Given the description of an element on the screen output the (x, y) to click on. 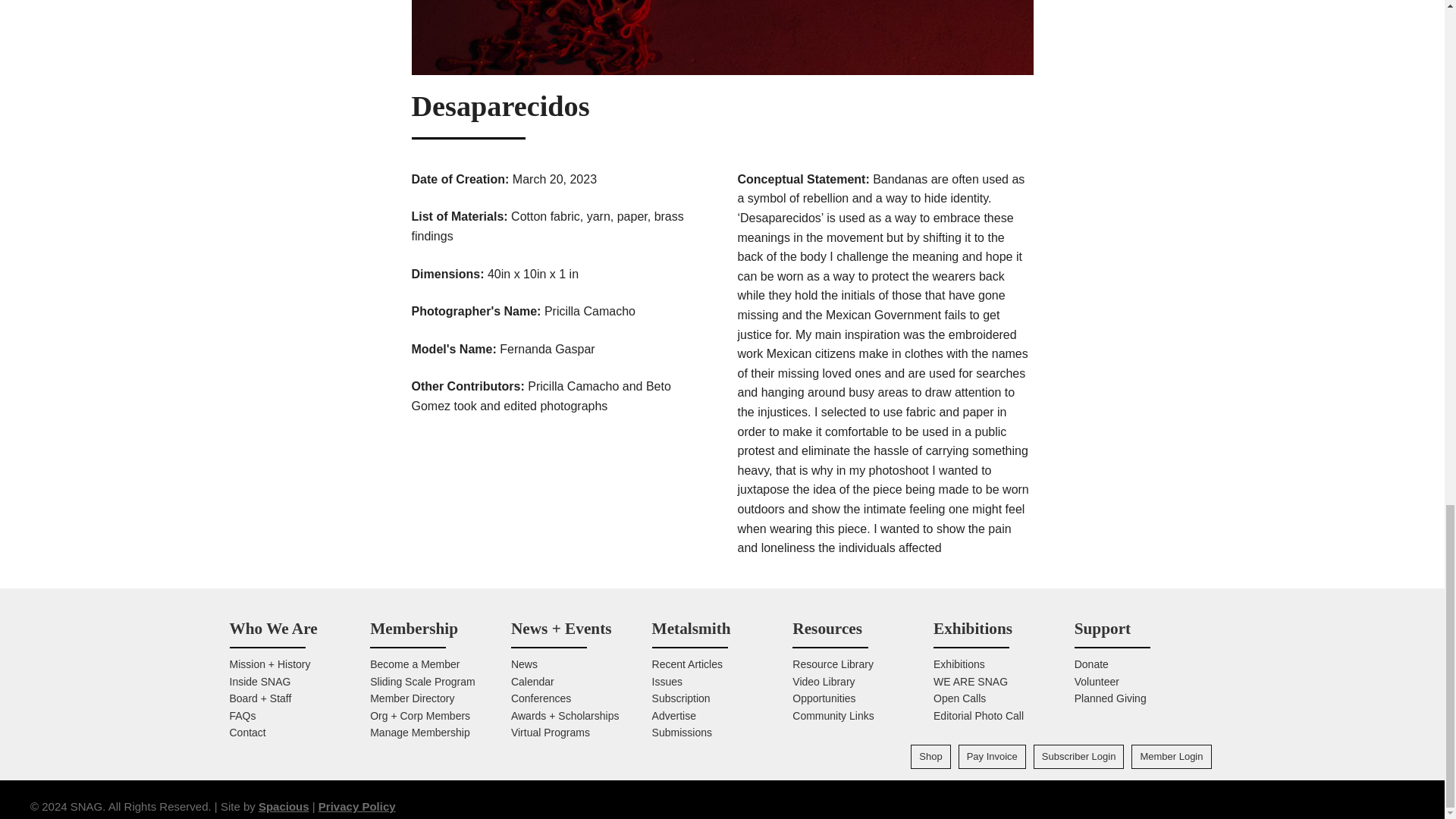
Metalsmith (691, 628)
Membership (413, 628)
Resources (826, 628)
Who We Are (272, 628)
Support (1102, 628)
Exhibitions (972, 628)
